Given the description of an element on the screen output the (x, y) to click on. 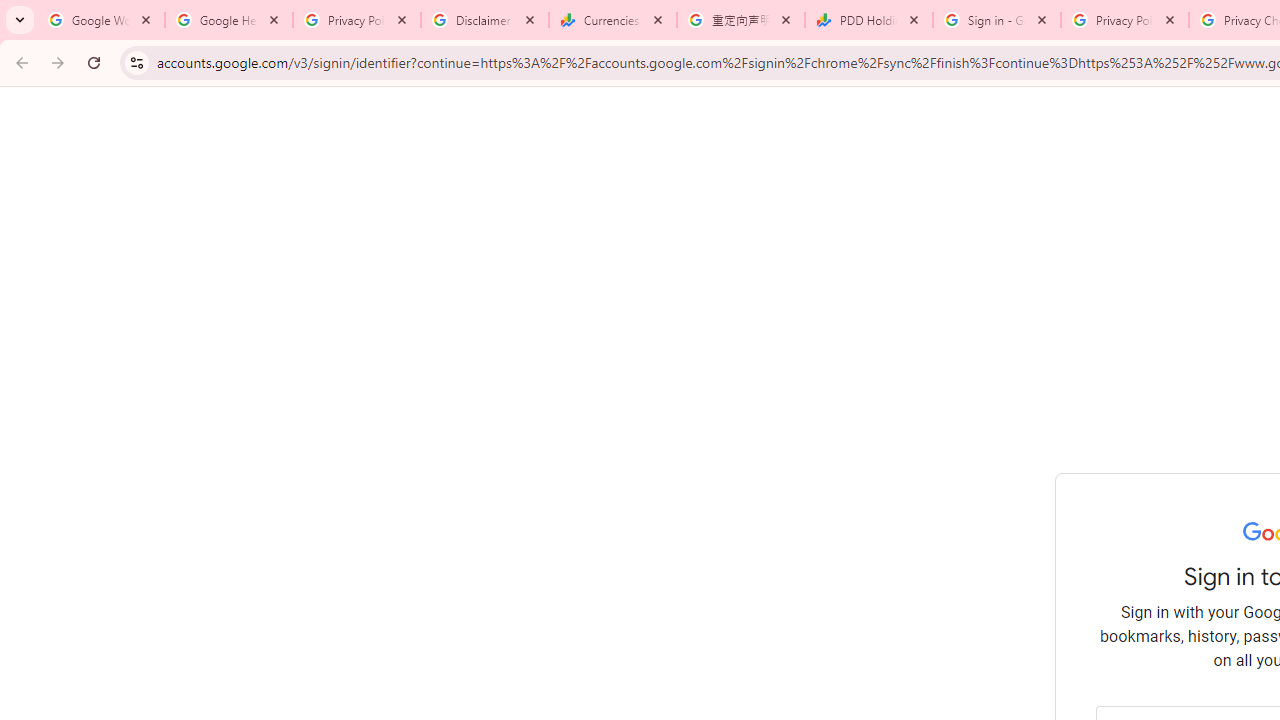
PDD Holdings Inc - ADR (PDD) Price & News - Google Finance (869, 20)
Google Workspace Admin Community (101, 20)
Currencies - Google Finance (613, 20)
